Given the description of an element on the screen output the (x, y) to click on. 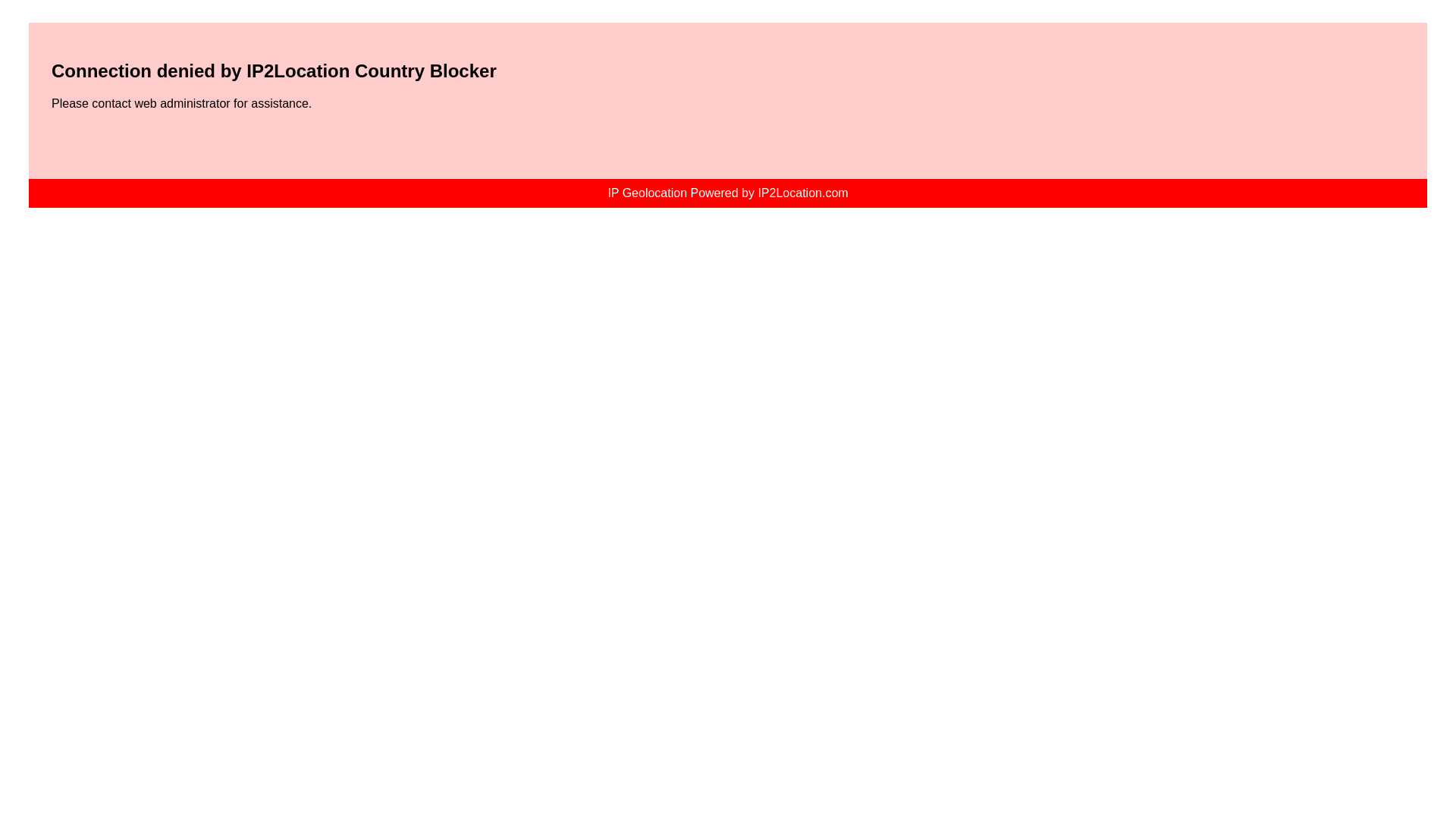
IP Geolocation Powered by IP2Location.com (727, 192)
